Given the description of an element on the screen output the (x, y) to click on. 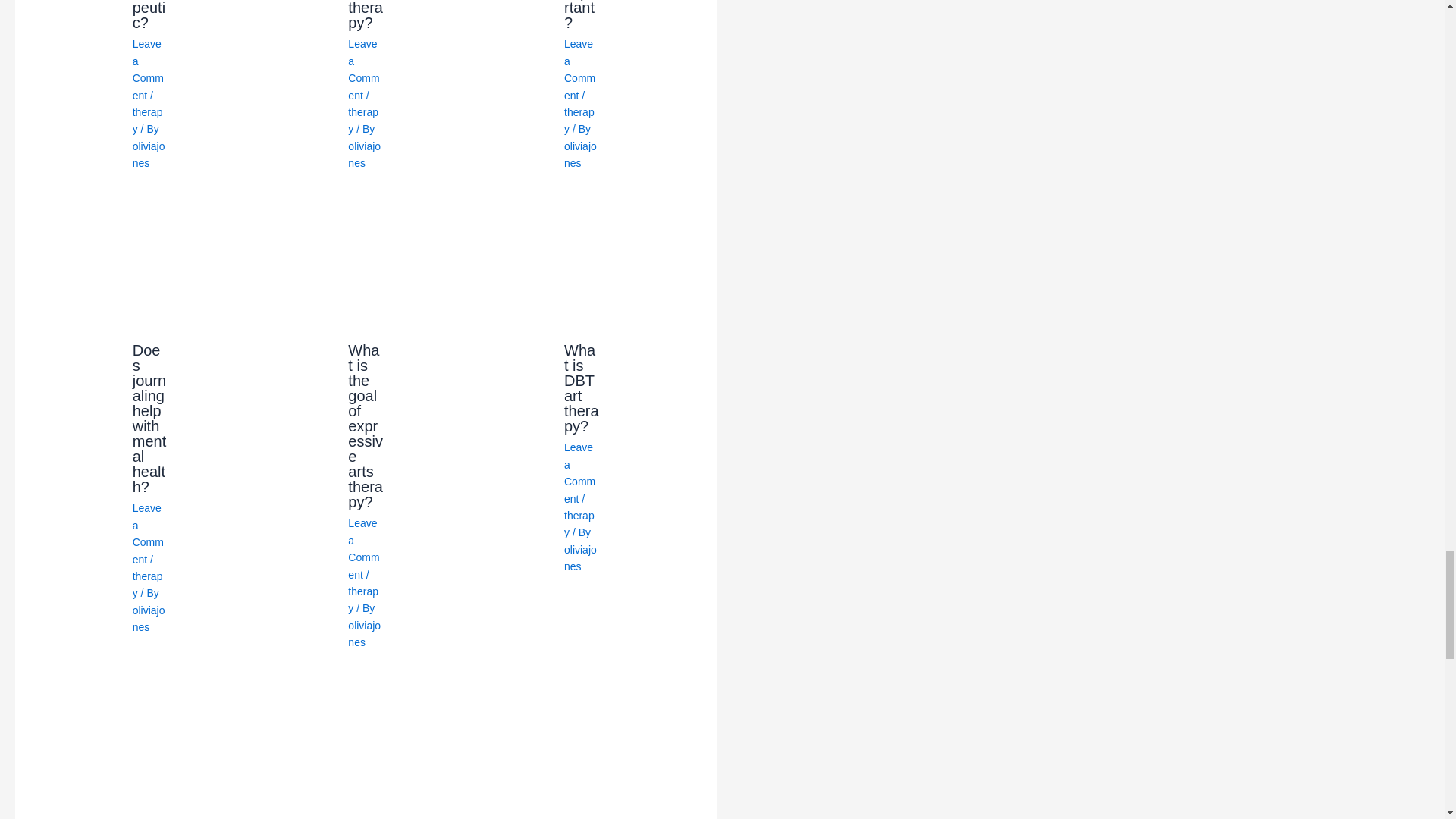
What is art journal therapy? (364, 15)
View all posts by oliviajones (148, 154)
therapy (147, 120)
oliviajones (148, 154)
oliviajones (363, 154)
Why is art journaling therapeutic? (149, 15)
therapy (362, 120)
